Given the description of an element on the screen output the (x, y) to click on. 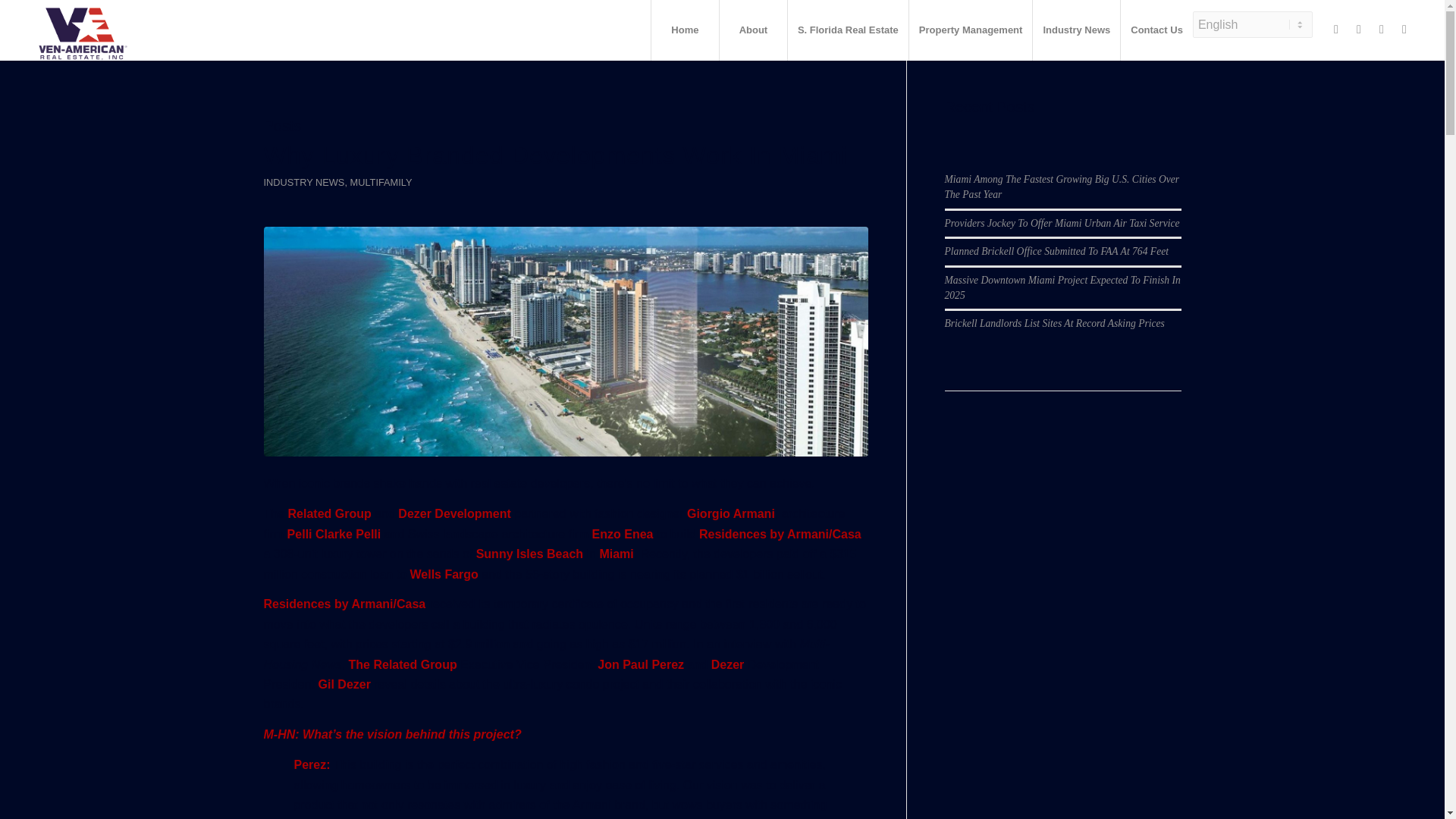
Facebook (1336, 29)
LinkedIn (1381, 29)
Rss (1404, 29)
Providers Jockey To Offer Miami Urban Air Taxi Service (1061, 223)
Industry News (1075, 30)
Home (684, 30)
S. Florida Real Estate (847, 30)
Massive Downtown Miami Project Expected To Finish In 2025 (1062, 287)
INDUSTRY NEWS (304, 182)
